Given the description of an element on the screen output the (x, y) to click on. 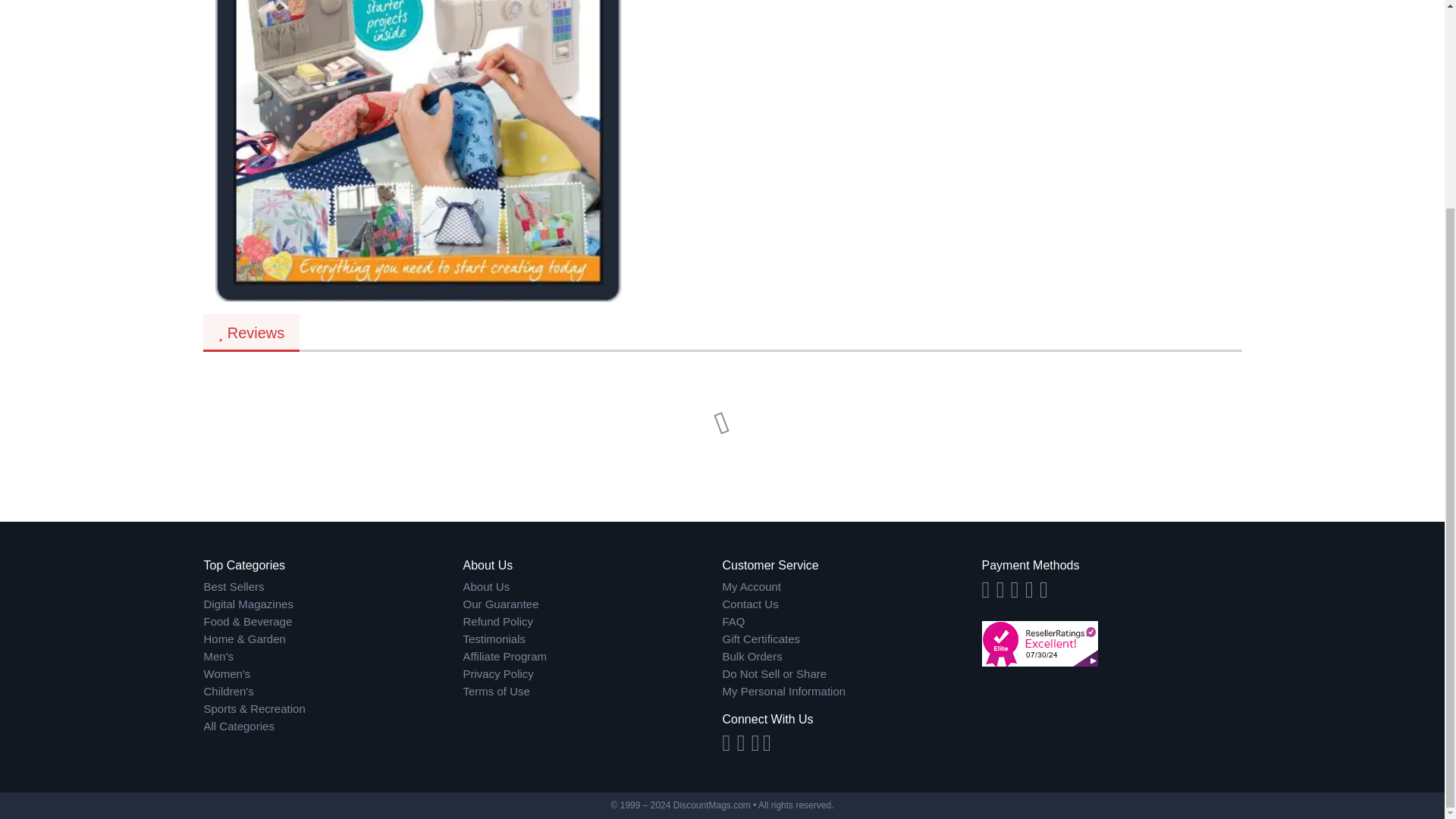
Gift Certificates (851, 639)
Bulk Orders (851, 656)
Our Guarantee (592, 604)
About Us (592, 587)
Women's (333, 674)
Best Sellers (783, 682)
Privacy Policy (333, 587)
Men's (592, 674)
FAQ (333, 656)
Terms of Use (851, 621)
Reviews (592, 692)
Contact Us (251, 332)
Affiliate Program (851, 604)
Children's (592, 656)
